Given the description of an element on the screen output the (x, y) to click on. 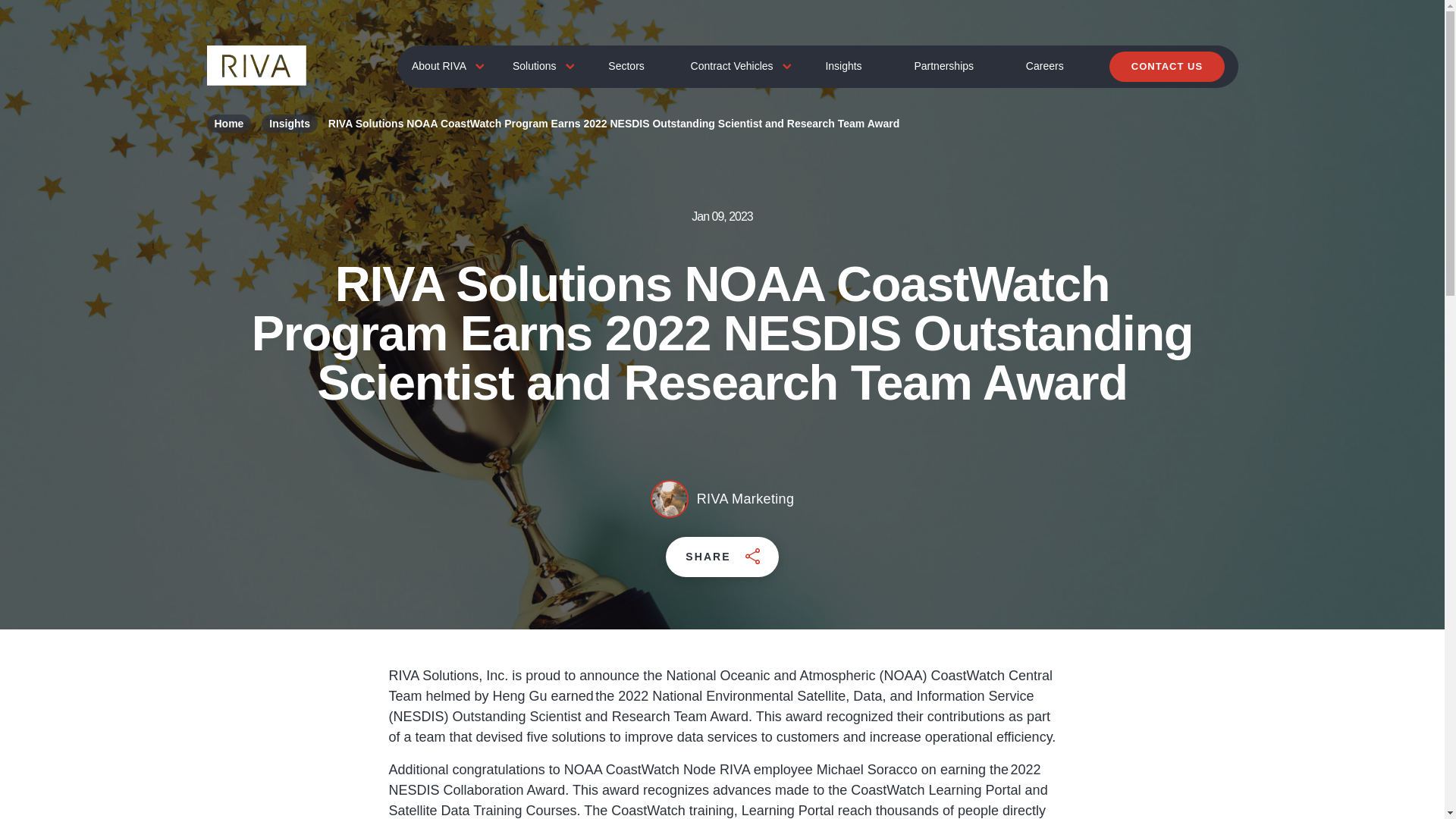
Careers (1045, 66)
RIVA Home (255, 65)
Partnerships (943, 66)
Solutions (537, 66)
Sectors (625, 66)
CONTACT US (1166, 66)
Insights (842, 66)
About RIVA (441, 66)
Contract Vehicles (734, 66)
